Given the description of an element on the screen output the (x, y) to click on. 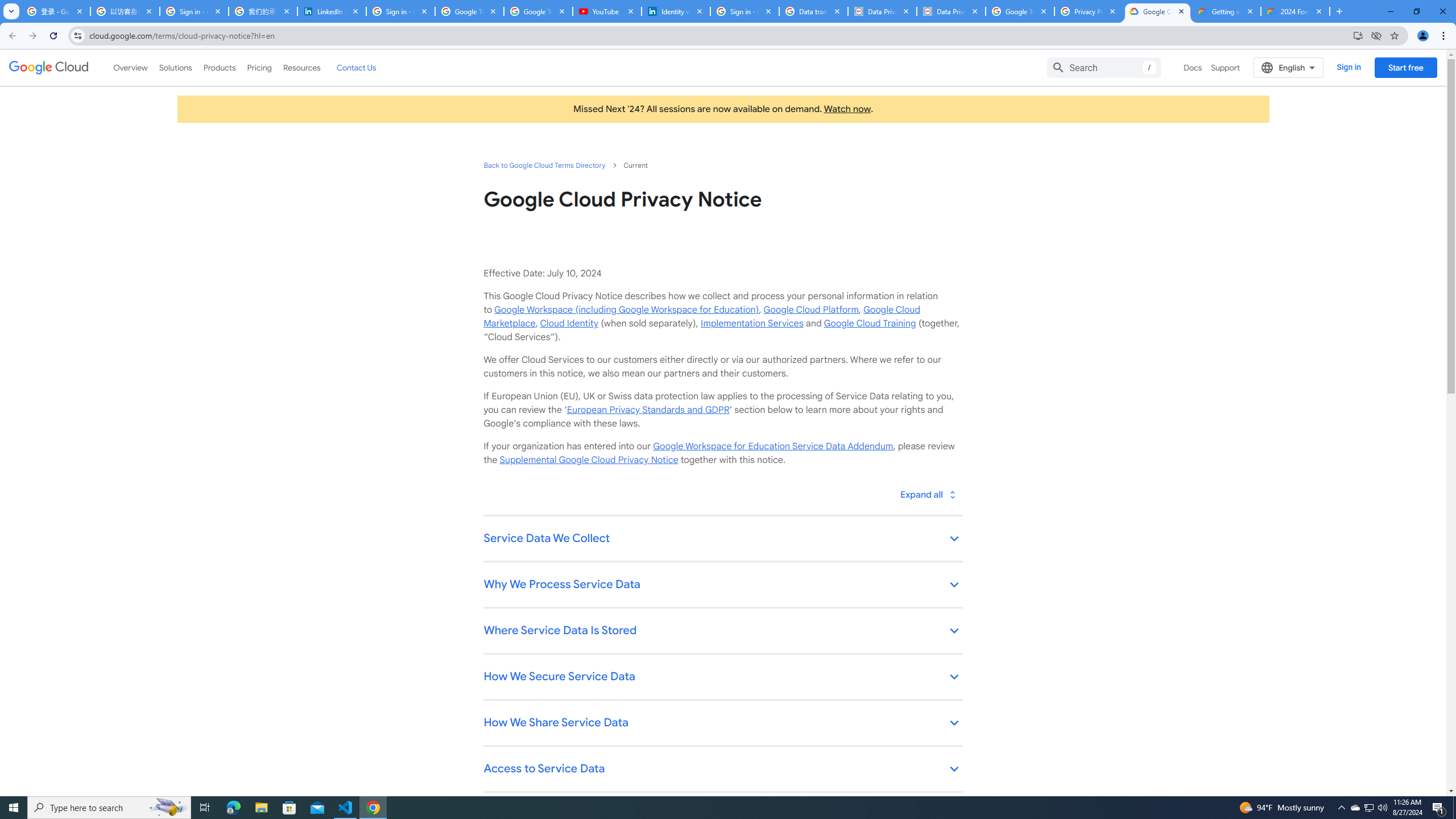
Start free (1405, 67)
Google Cloud (48, 67)
Where Service Data Is Stored keyboard_arrow_down (722, 631)
Cloud Identity (569, 323)
Google Cloud Marketplace (701, 316)
Implementation Services (751, 323)
European Privacy Standards and GDPR (647, 410)
